Given the description of an element on the screen output the (x, y) to click on. 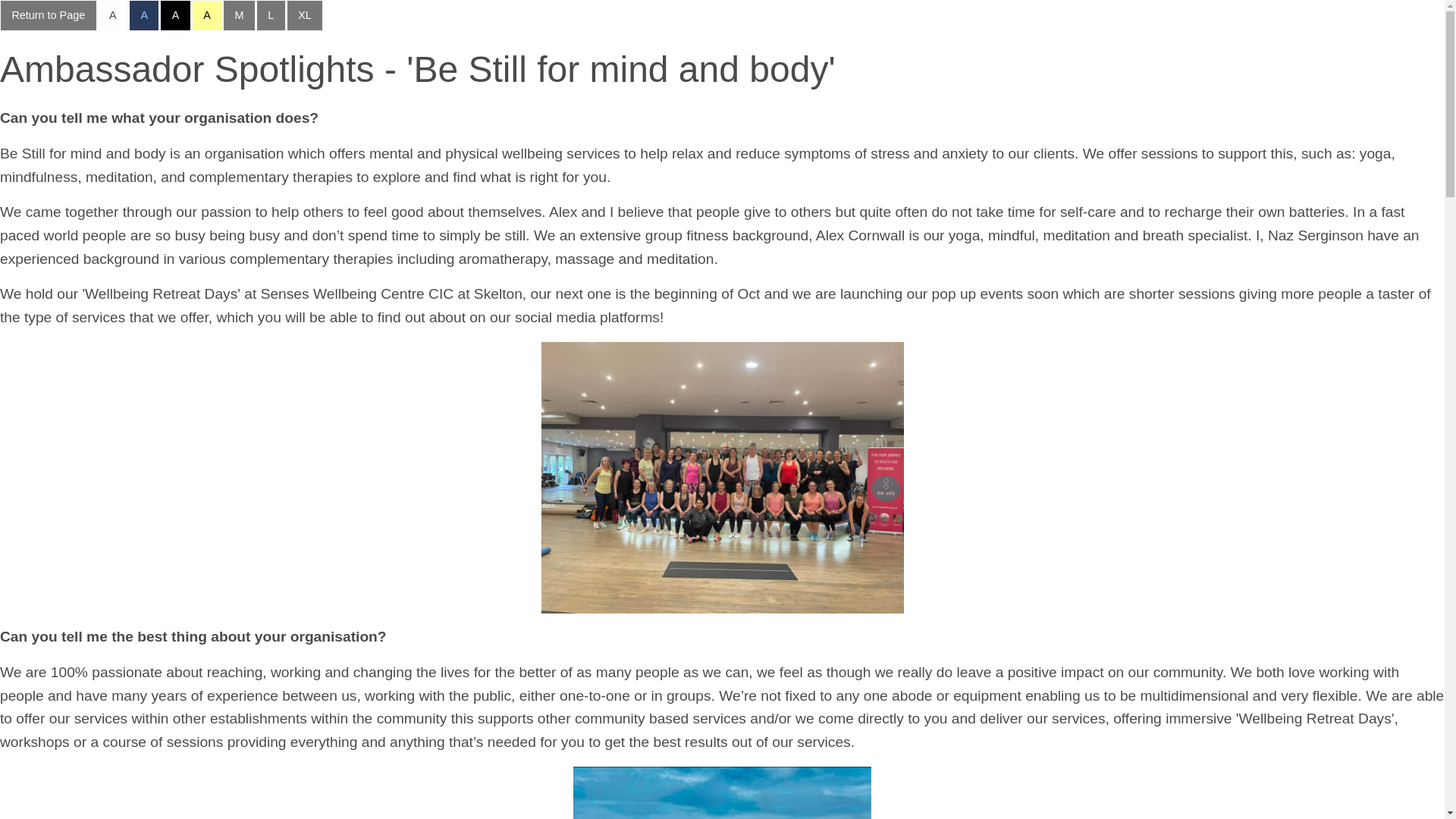
M (239, 15)
L (270, 15)
A (112, 15)
A (207, 15)
Return to Page (48, 15)
A (175, 15)
XL (304, 15)
A (143, 15)
